Given the description of an element on the screen output the (x, y) to click on. 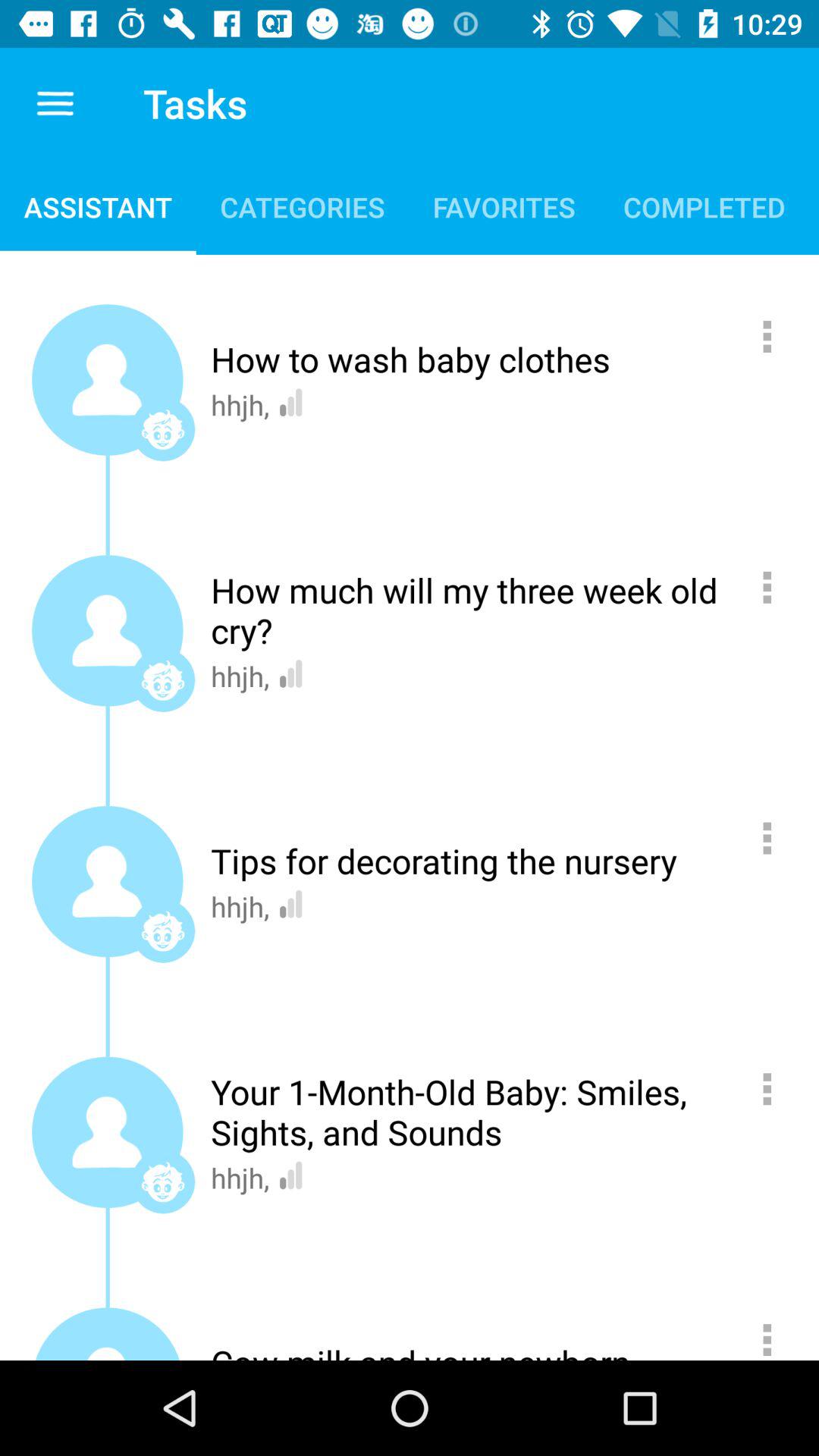
select the item to the left of tasks item (56, 103)
